Given the description of an element on the screen output the (x, y) to click on. 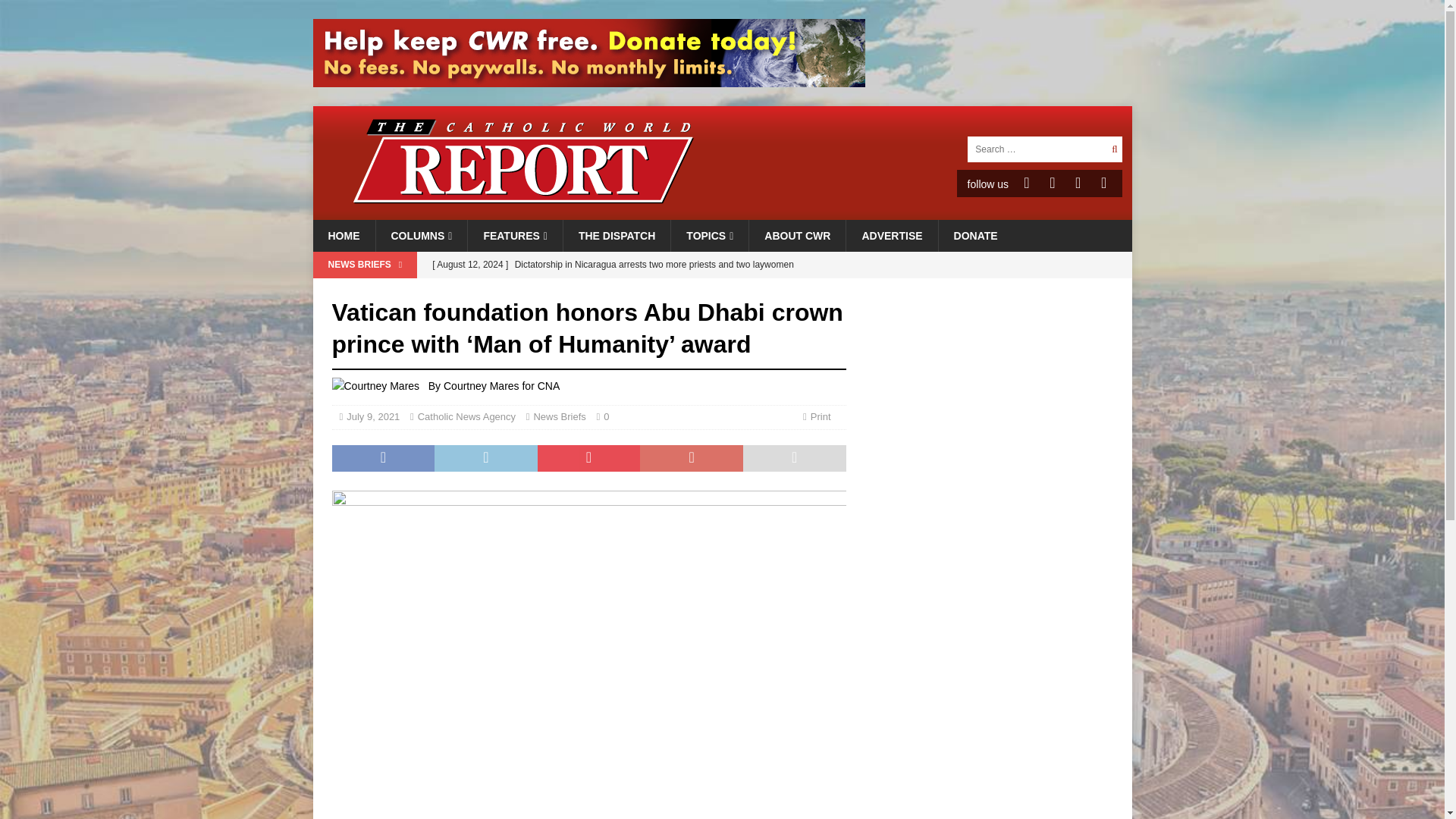
COLUMNS (420, 235)
TOPICS (708, 235)
ABOUT CWR (796, 235)
FEATURES (514, 235)
ADVERTISE (891, 235)
NEWS BRIEFS (364, 264)
DONATE (975, 235)
Catholic World Report (722, 211)
